Given the description of an element on the screen output the (x, y) to click on. 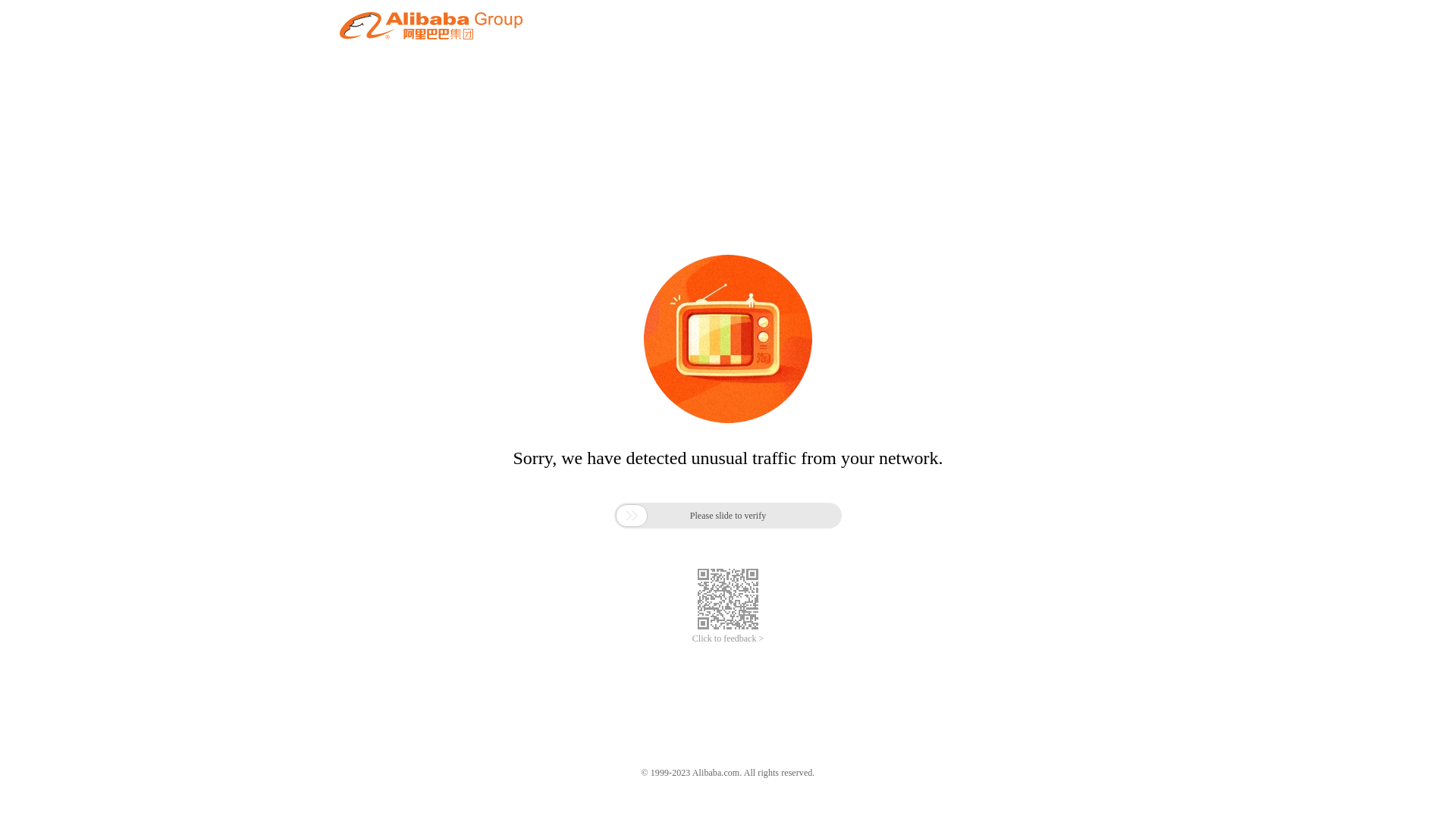
Click to feedback > Element type: text (727, 638)
